Given the description of an element on the screen output the (x, y) to click on. 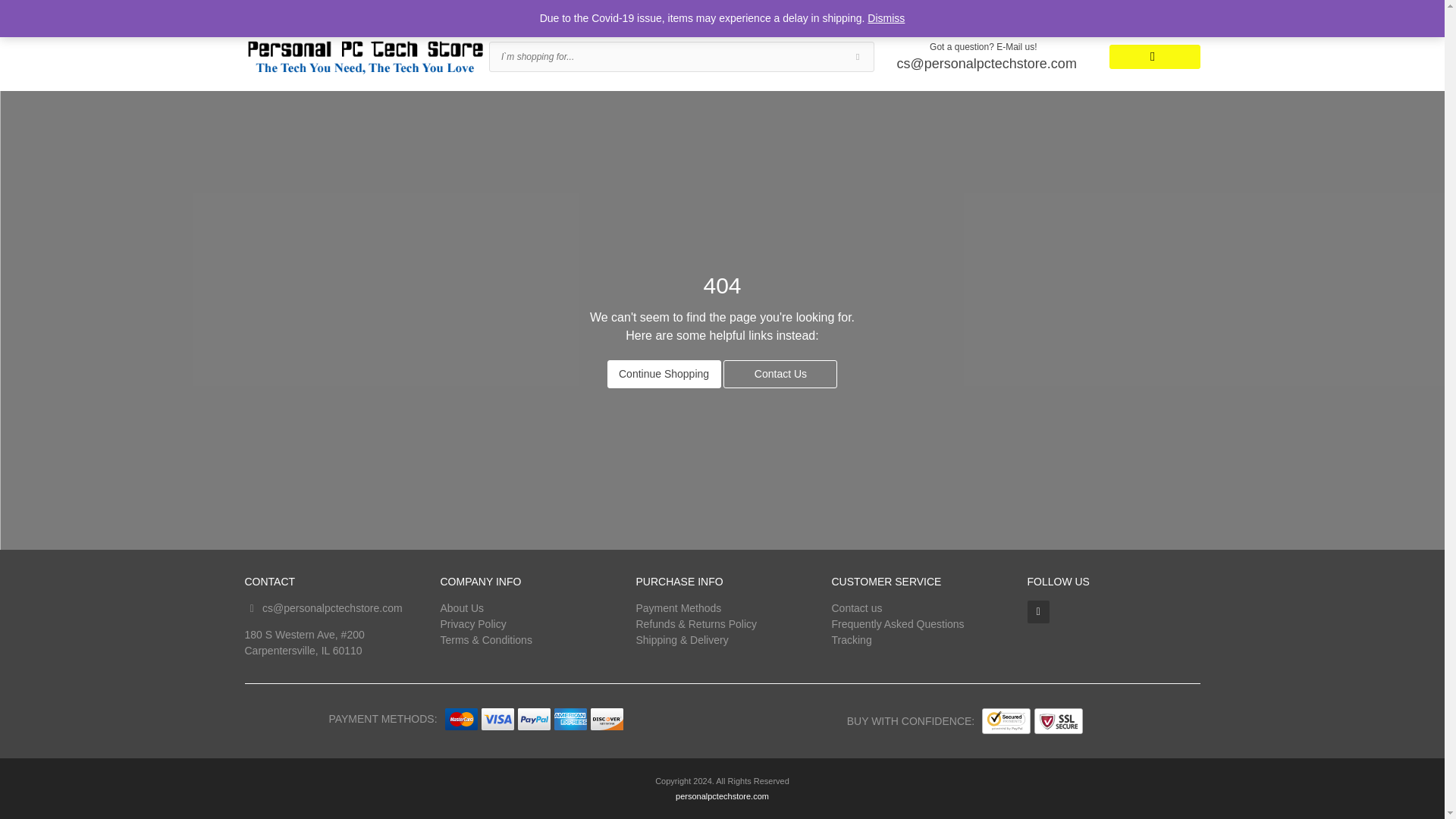
Payment Methods (677, 607)
Shop (254, 11)
Continue Shopping (663, 373)
Contact Us (780, 373)
Privacy Policy (472, 623)
Frequently Asked Questions (897, 623)
Shipping (301, 11)
Tracking (354, 11)
Contact us (856, 607)
Tracking (850, 639)
Dismiss (885, 18)
Contact (406, 11)
About Us (461, 607)
